Given the description of an element on the screen output the (x, y) to click on. 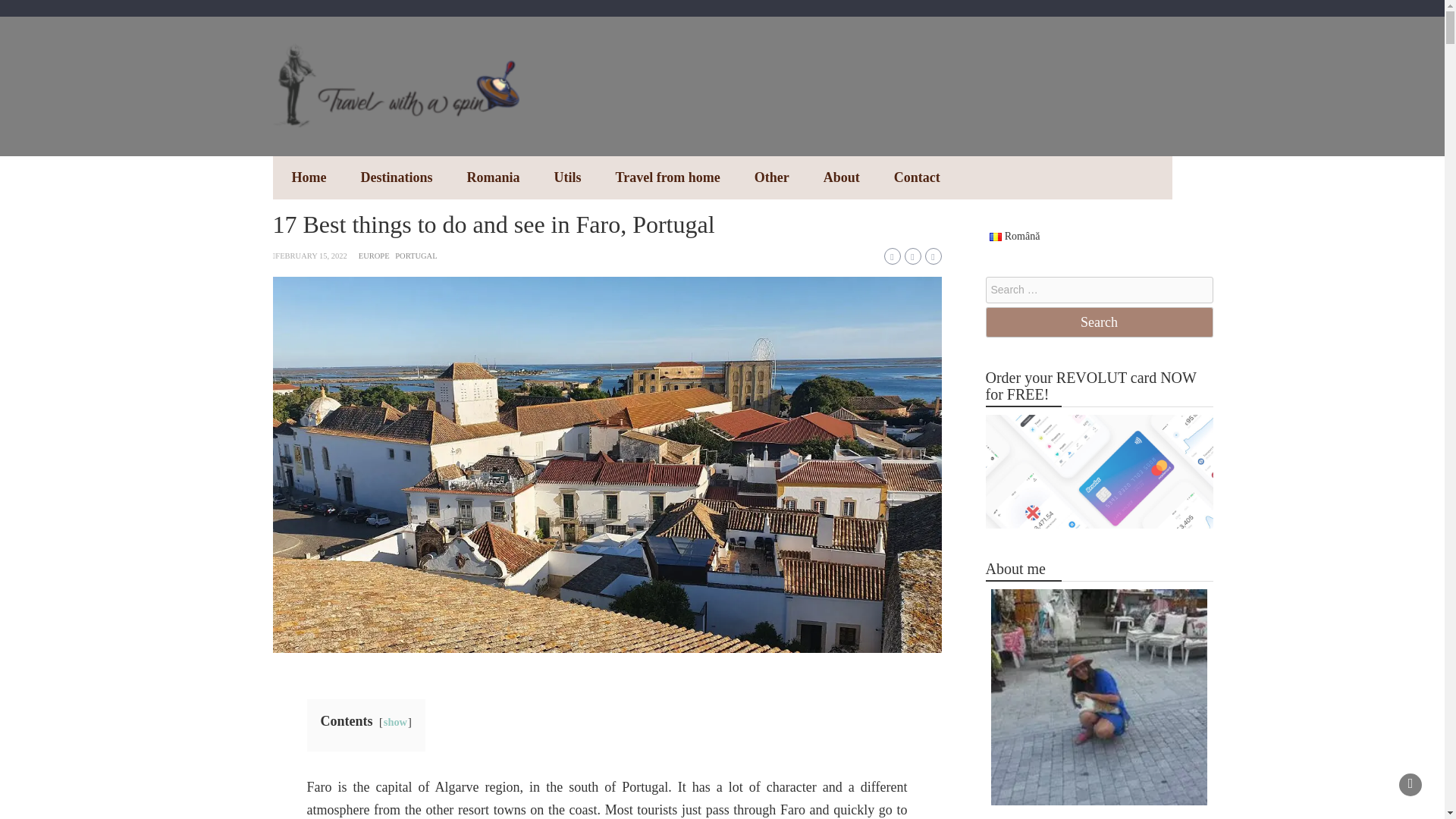
Utils (567, 177)
Other (772, 177)
Search (1098, 322)
Travel from home (667, 177)
Destinations (395, 177)
FEBRUARY 15, 2022 (310, 255)
Search for: (1098, 289)
About (841, 177)
Search (1098, 322)
Contact (917, 177)
Home (308, 177)
PORTUGAL (415, 255)
show (395, 721)
Romania (493, 177)
EUROPE (374, 255)
